Given the description of an element on the screen output the (x, y) to click on. 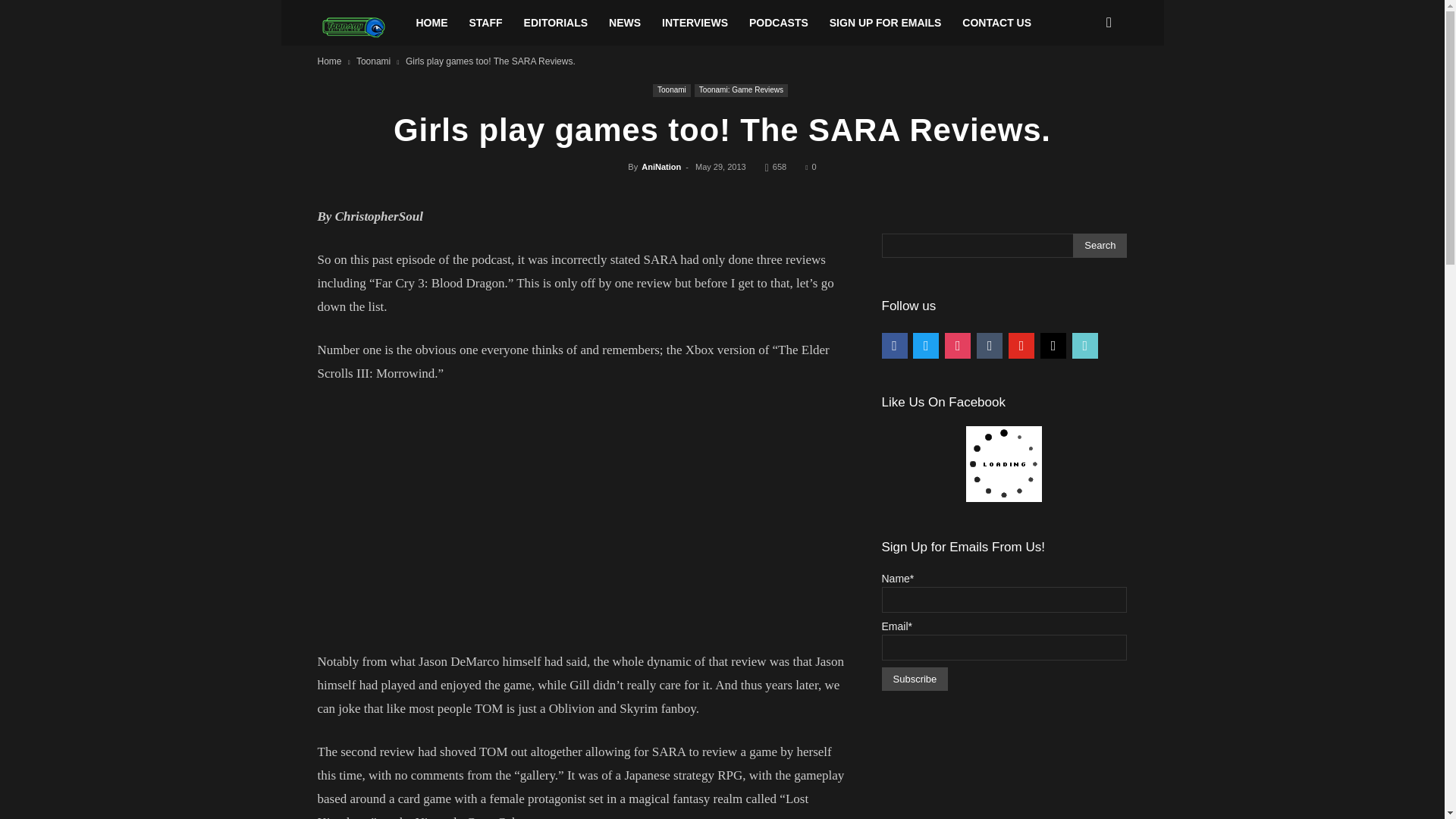
STAFF (485, 22)
Facebook (893, 345)
Instagram (957, 345)
Default Label (989, 345)
Twitter (925, 345)
Search (1099, 245)
CONTACT US (997, 22)
EDITORIALS (555, 22)
PODCASTS (778, 22)
Toonami Faithful (360, 26)
